Given the description of an element on the screen output the (x, y) to click on. 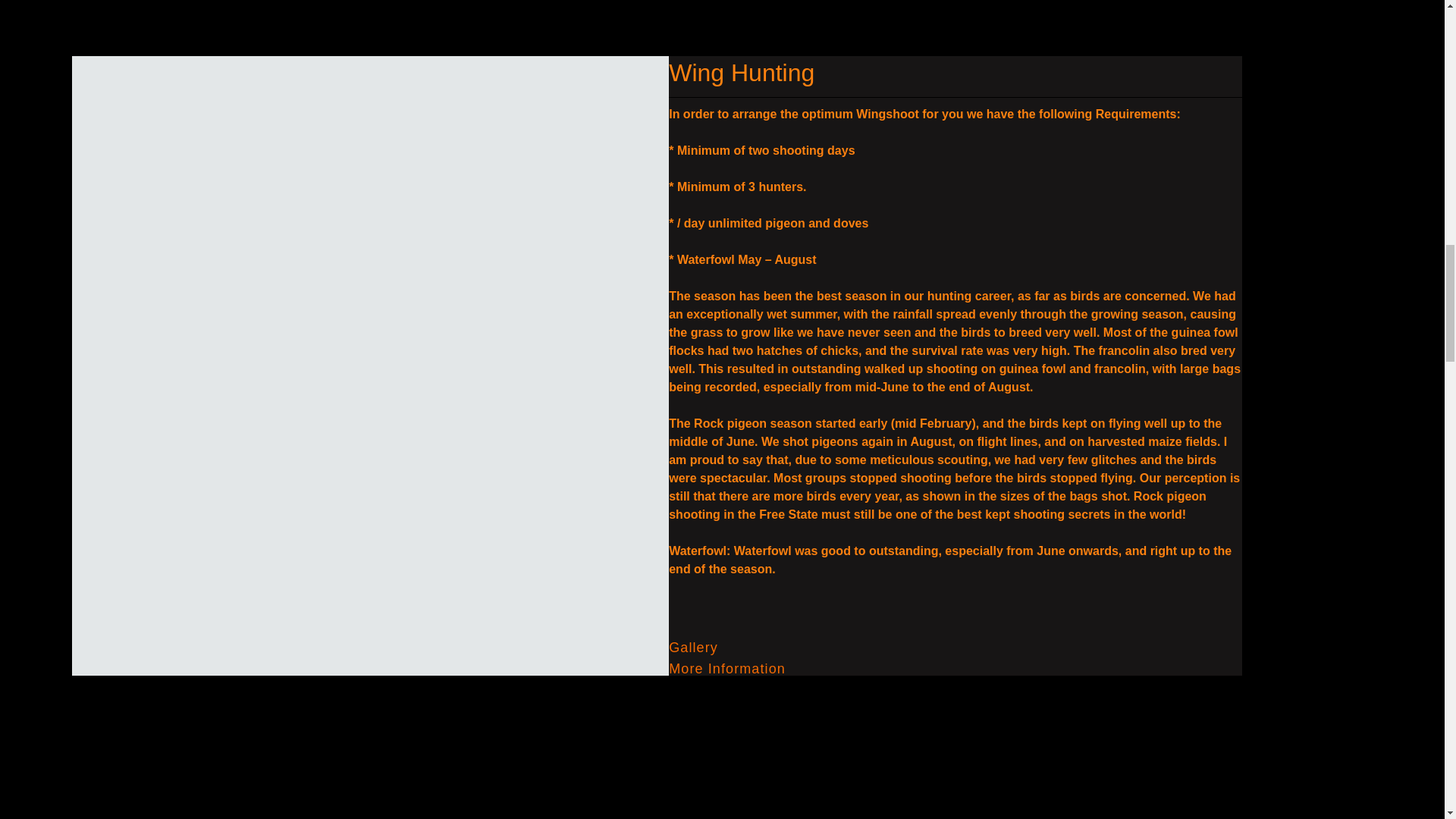
More Information (727, 668)
Gallery (692, 647)
